Given the description of an element on the screen output the (x, y) to click on. 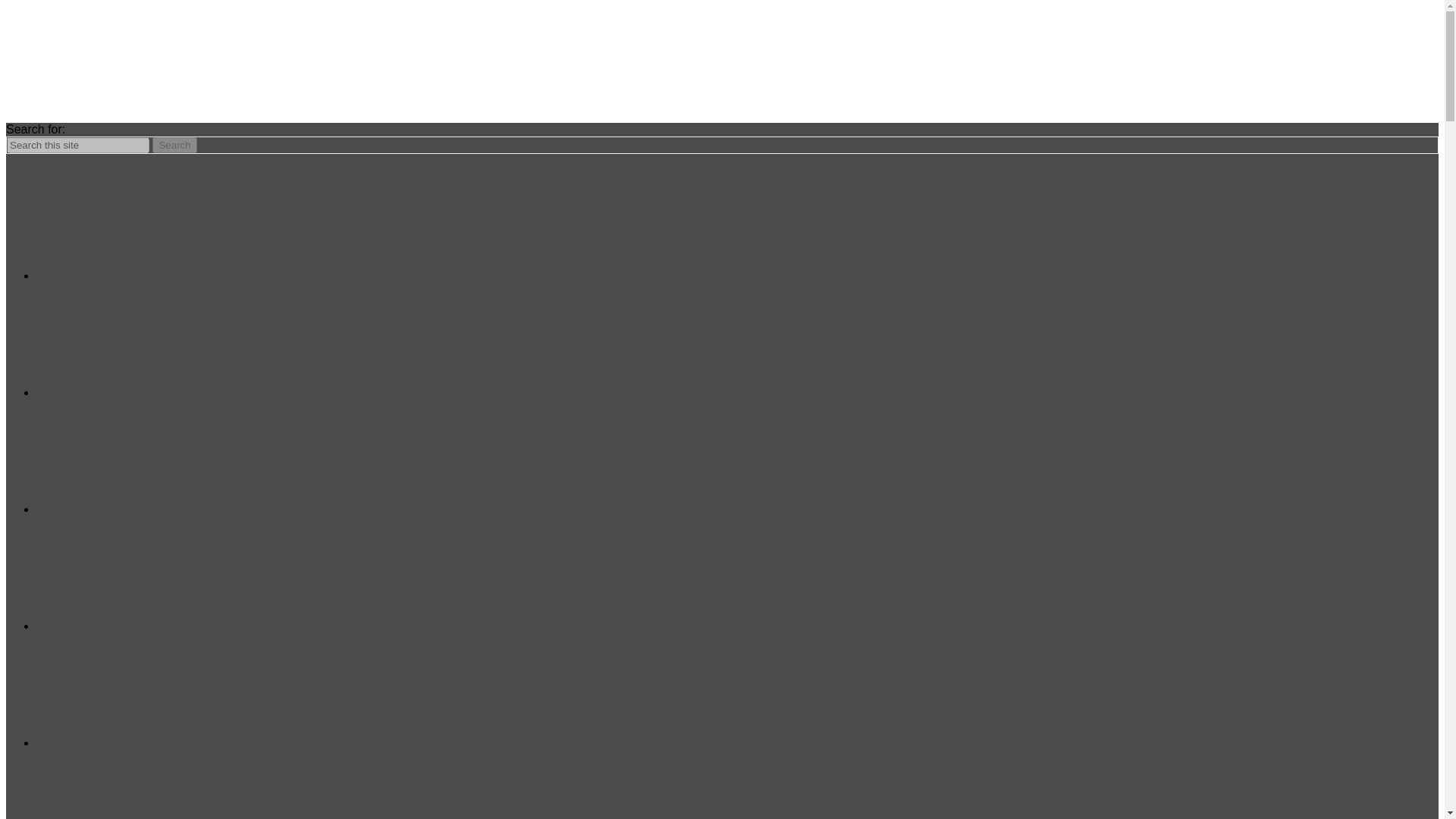
Search this site (78, 145)
Facebook (149, 223)
